Given the description of an element on the screen output the (x, y) to click on. 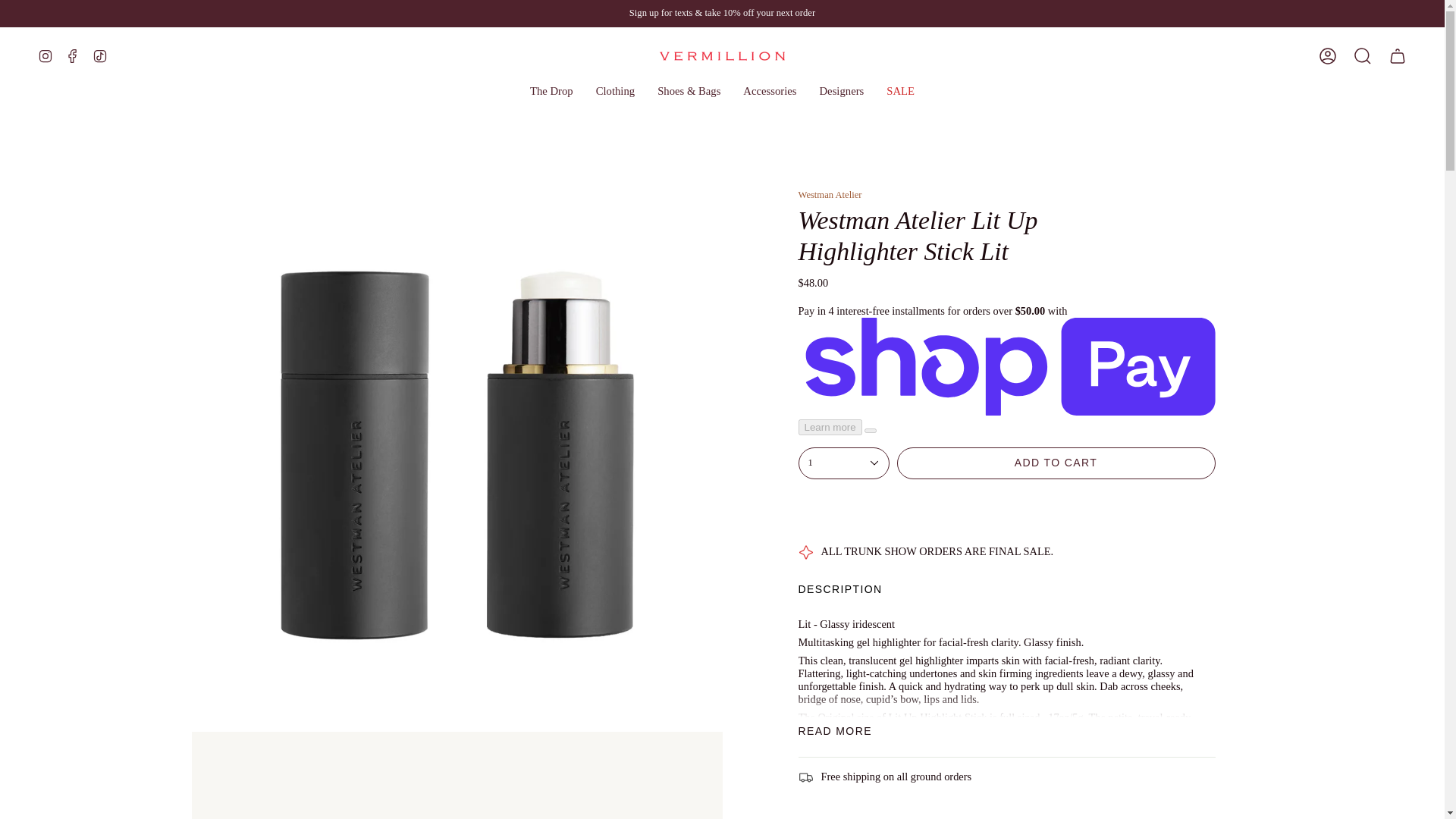
Facebook (72, 54)
TikTok (100, 54)
Account (1327, 55)
The Drop (551, 91)
Vermillion on Instagram (44, 54)
Cart (1397, 55)
Search (1362, 55)
Vermillion on TikTok (100, 54)
Instagram (44, 54)
Clothing (615, 91)
Vermillion on Facebook (72, 54)
My Account (1327, 55)
Cart (1397, 55)
